Given the description of an element on the screen output the (x, y) to click on. 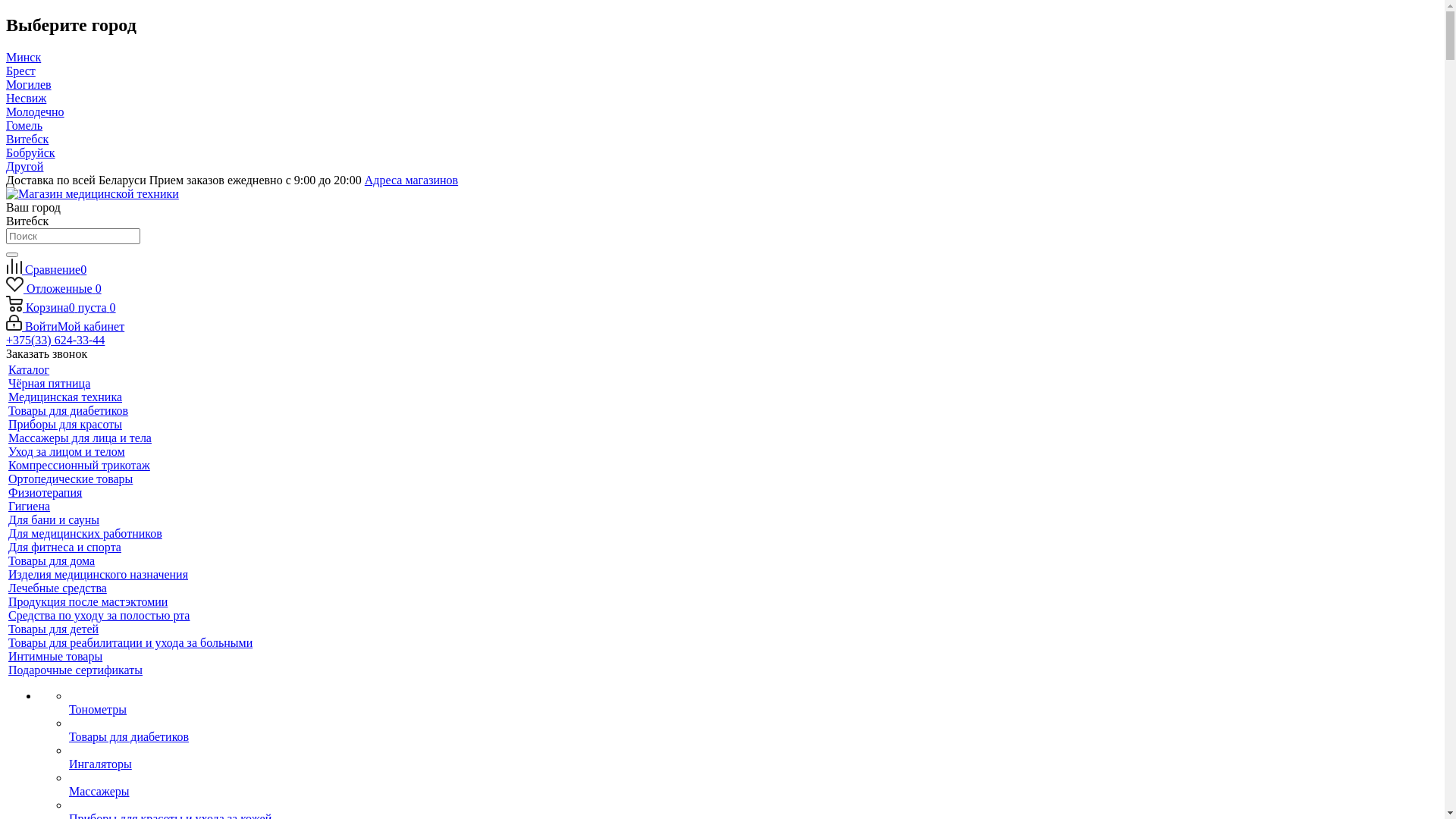
+375(33) 624-33-44 Element type: text (55, 339)
